Given the description of an element on the screen output the (x, y) to click on. 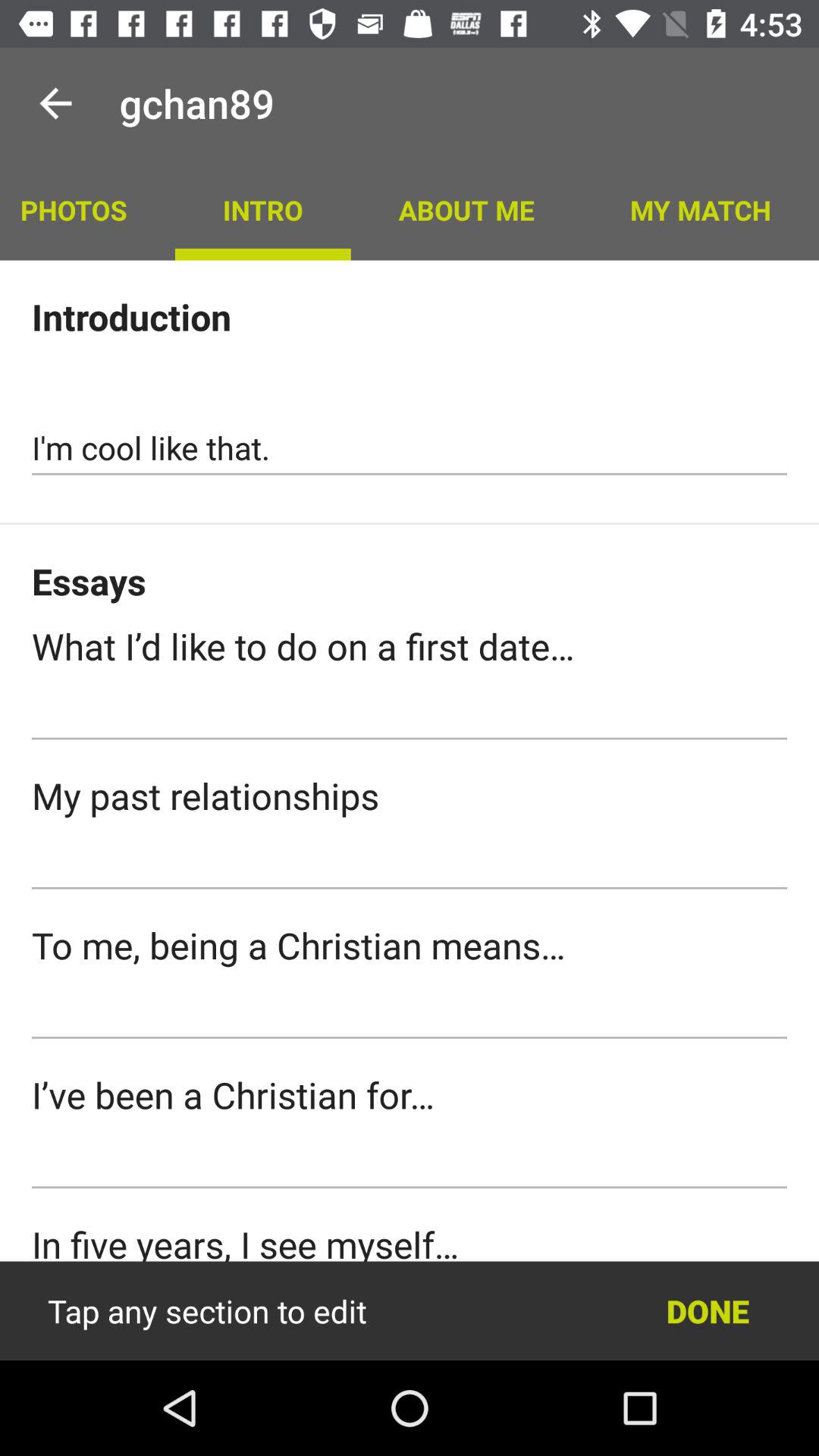
edit (409, 1310)
